Given the description of an element on the screen output the (x, y) to click on. 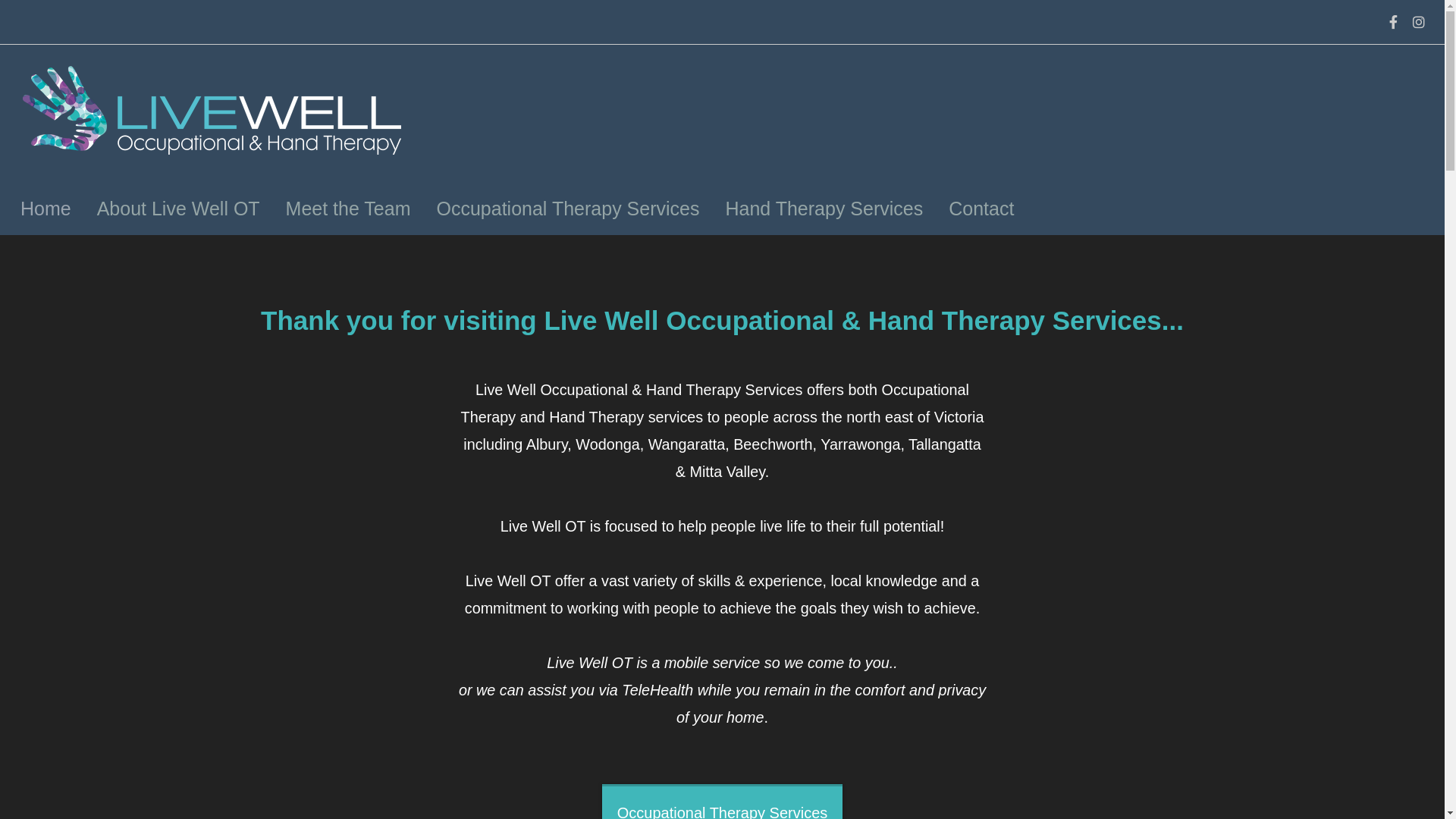
Contact Element type: text (981, 208)
Home Element type: text (45, 208)
Hand Therapy Services Element type: text (823, 208)
Meet the Team Element type: text (348, 208)
Occupational Therapy Services Element type: text (567, 208)
About Live Well OT Element type: text (178, 208)
